Given the description of an element on the screen output the (x, y) to click on. 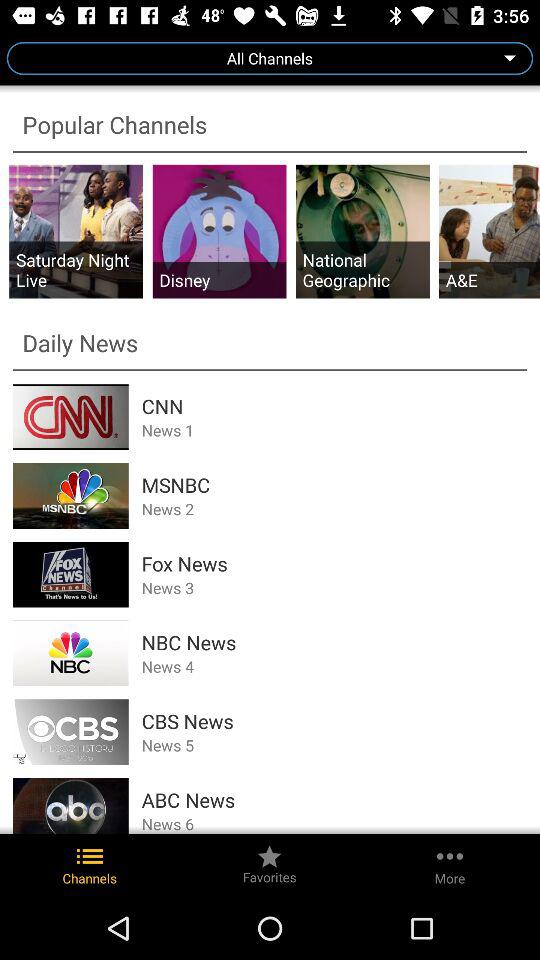
turn off the icon below the cnn icon (333, 429)
